Given the description of an element on the screen output the (x, y) to click on. 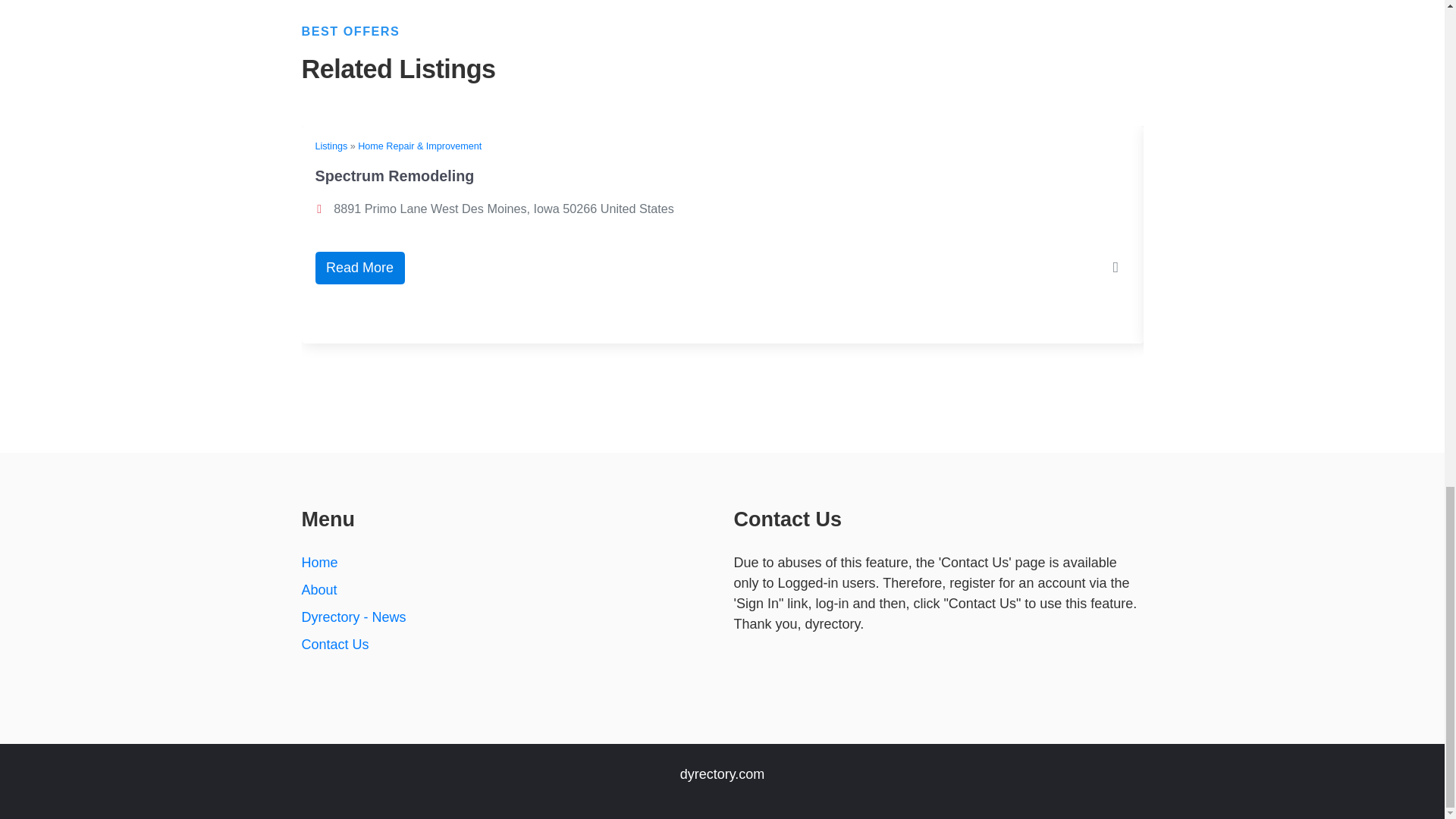
Read More (359, 267)
Spectrum Remodeling (394, 175)
Listings (331, 145)
